Given the description of an element on the screen output the (x, y) to click on. 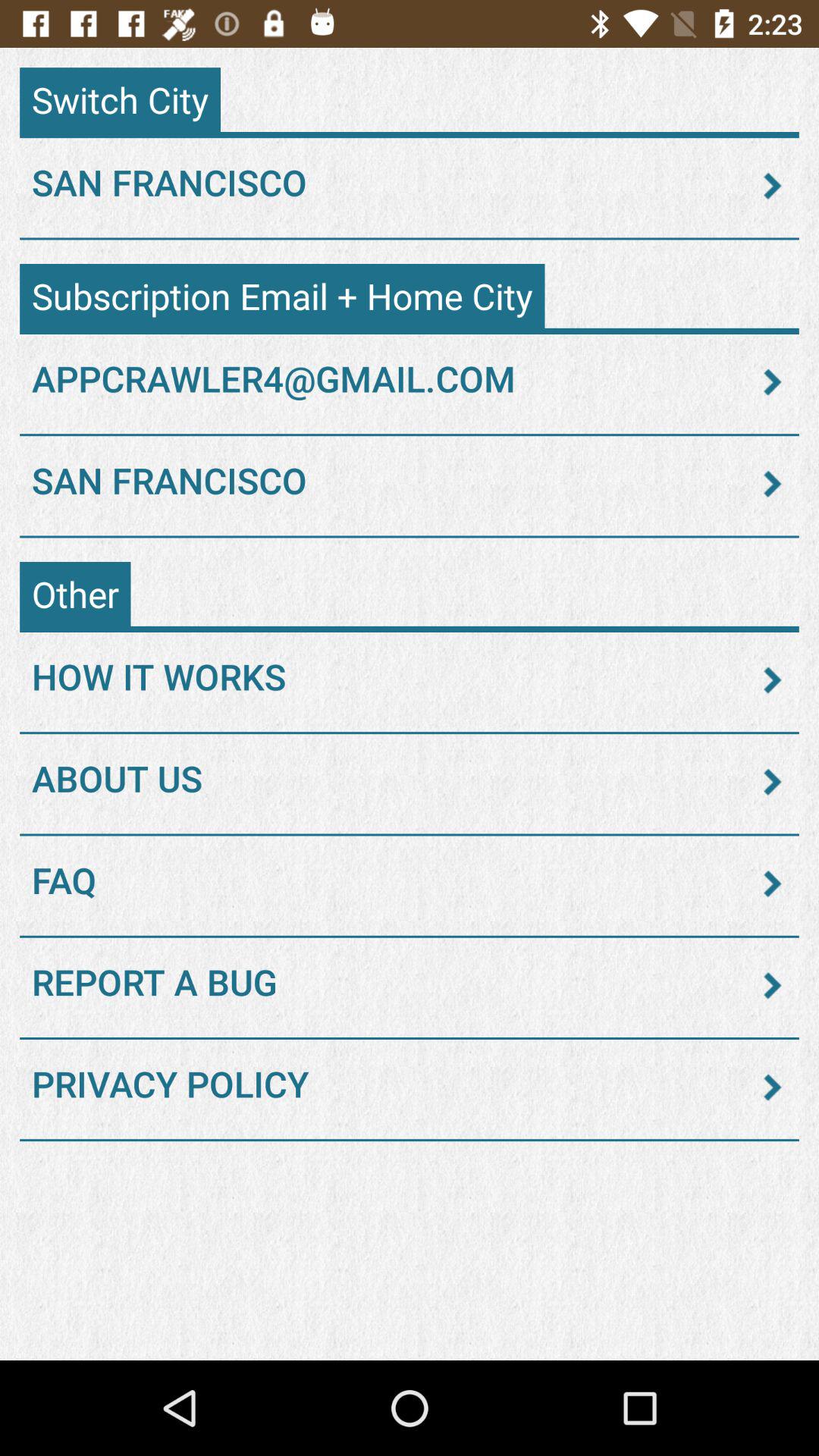
open the how it works item (409, 680)
